Given the description of an element on the screen output the (x, y) to click on. 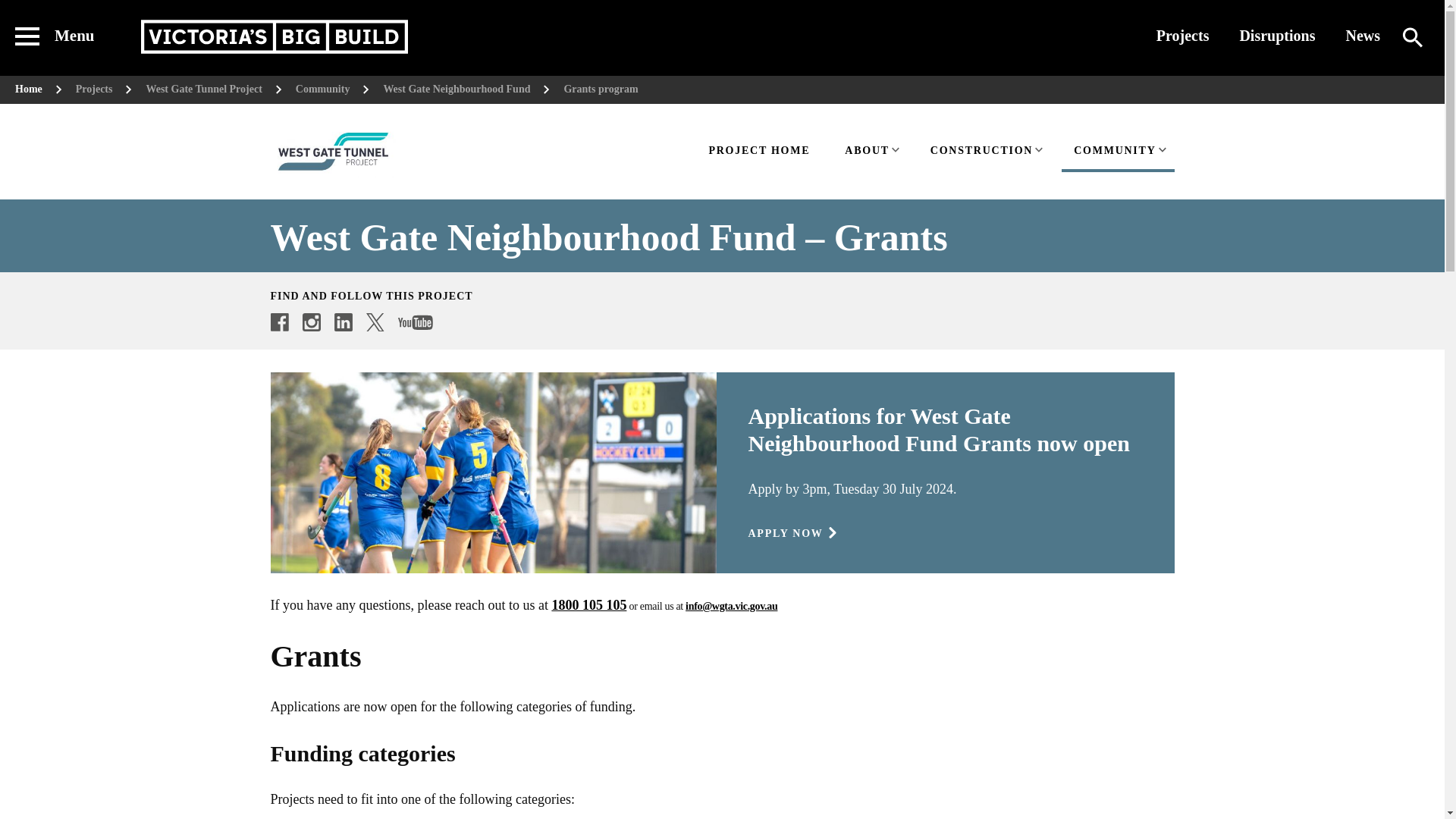
Menu (49, 36)
West Gate Neighbourhood Fund (444, 89)
Home (28, 89)
PROJECT HOME (758, 149)
West Gate Tunnel Project (192, 89)
Projects (1182, 37)
Projects (82, 89)
ABOUT (866, 150)
Community (311, 89)
West Gate Tunnel Project (332, 149)
News (1362, 37)
Disruptions (1277, 37)
